Given the description of an element on the screen output the (x, y) to click on. 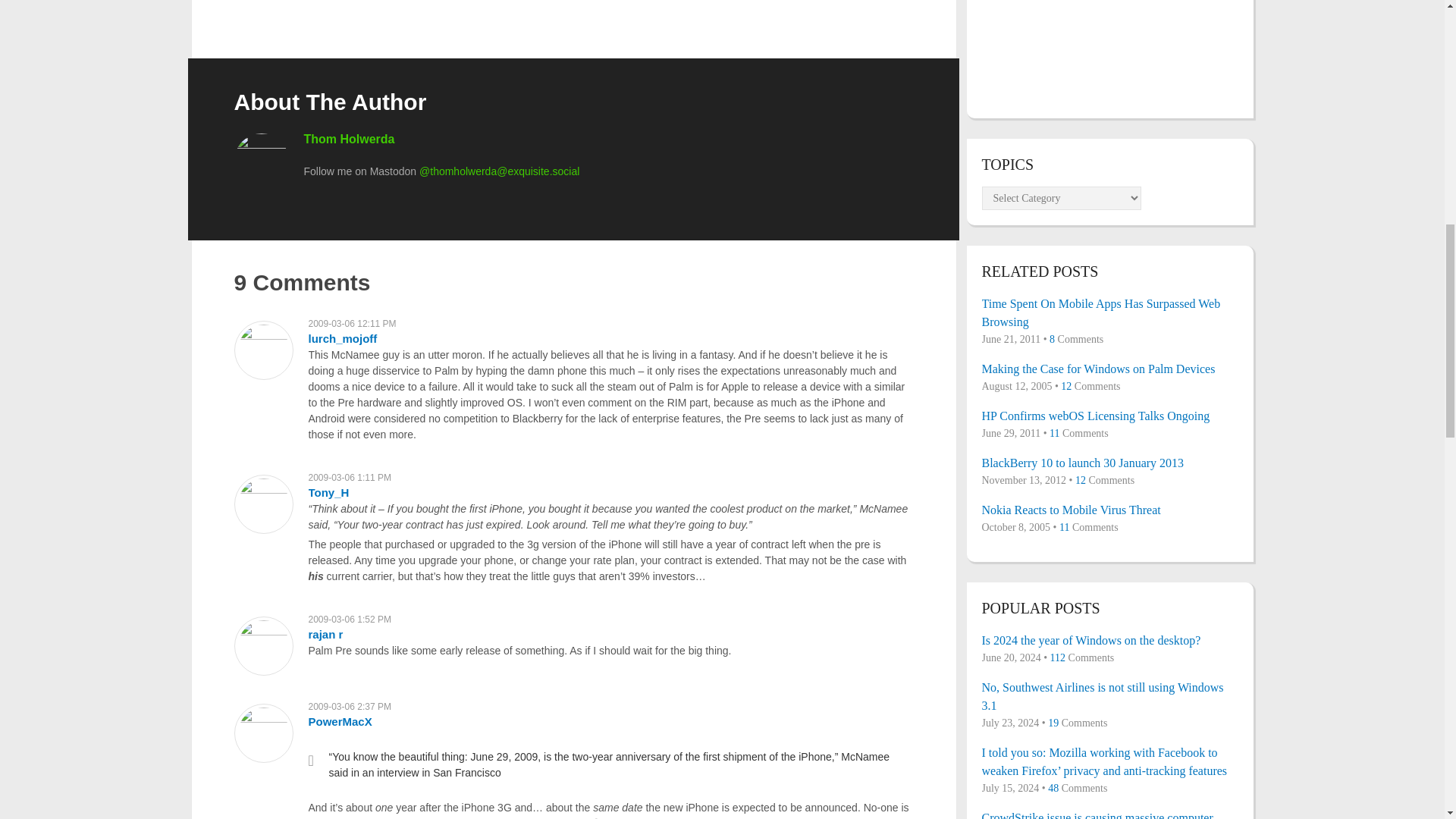
rajan r (324, 634)
Thom Holwerda (348, 138)
PowerMacX (339, 721)
